Given the description of an element on the screen output the (x, y) to click on. 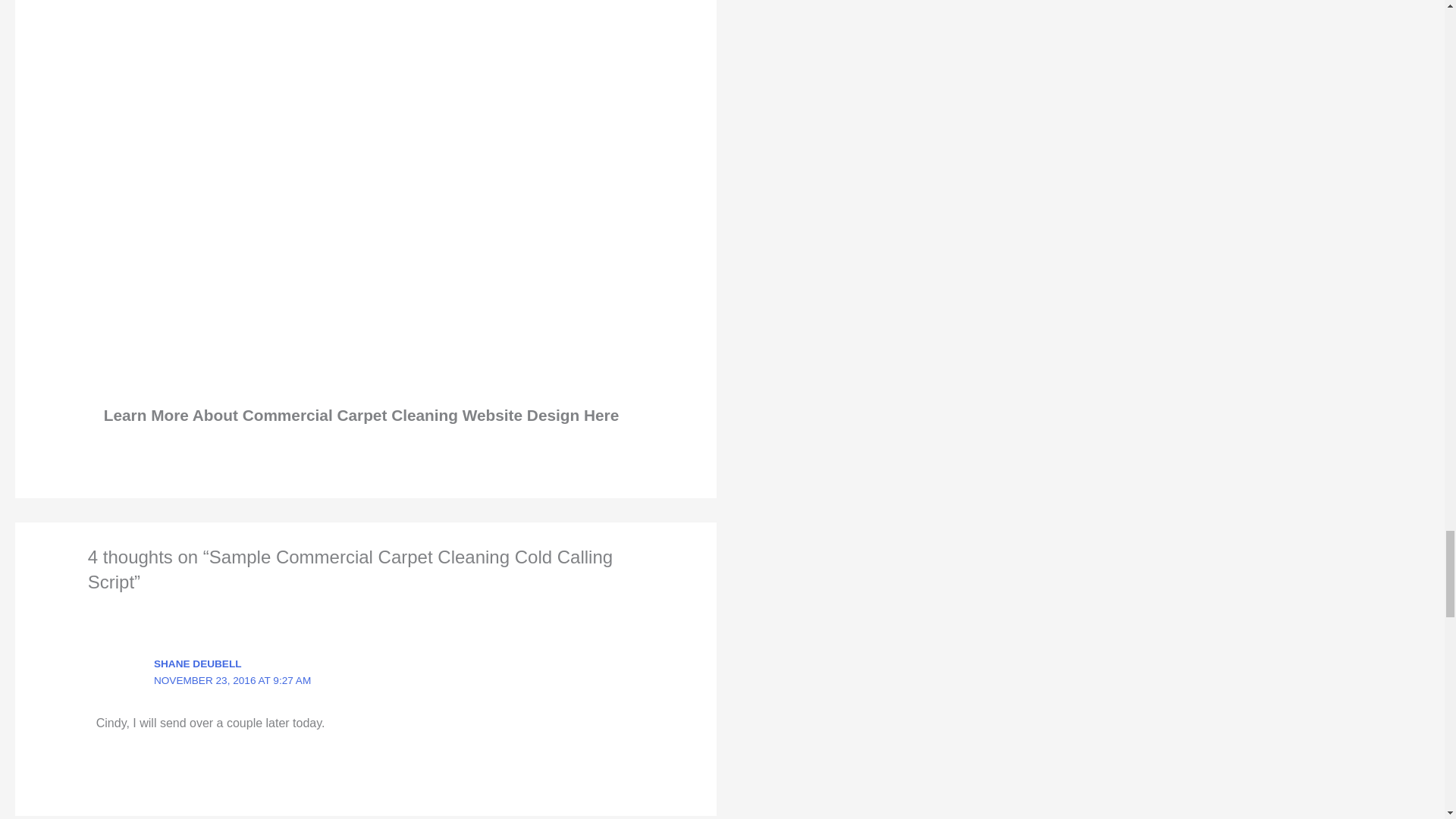
SHANE DEUBELL (197, 663)
NOVEMBER 23, 2016 AT 9:27 AM (232, 680)
